Given the description of an element on the screen output the (x, y) to click on. 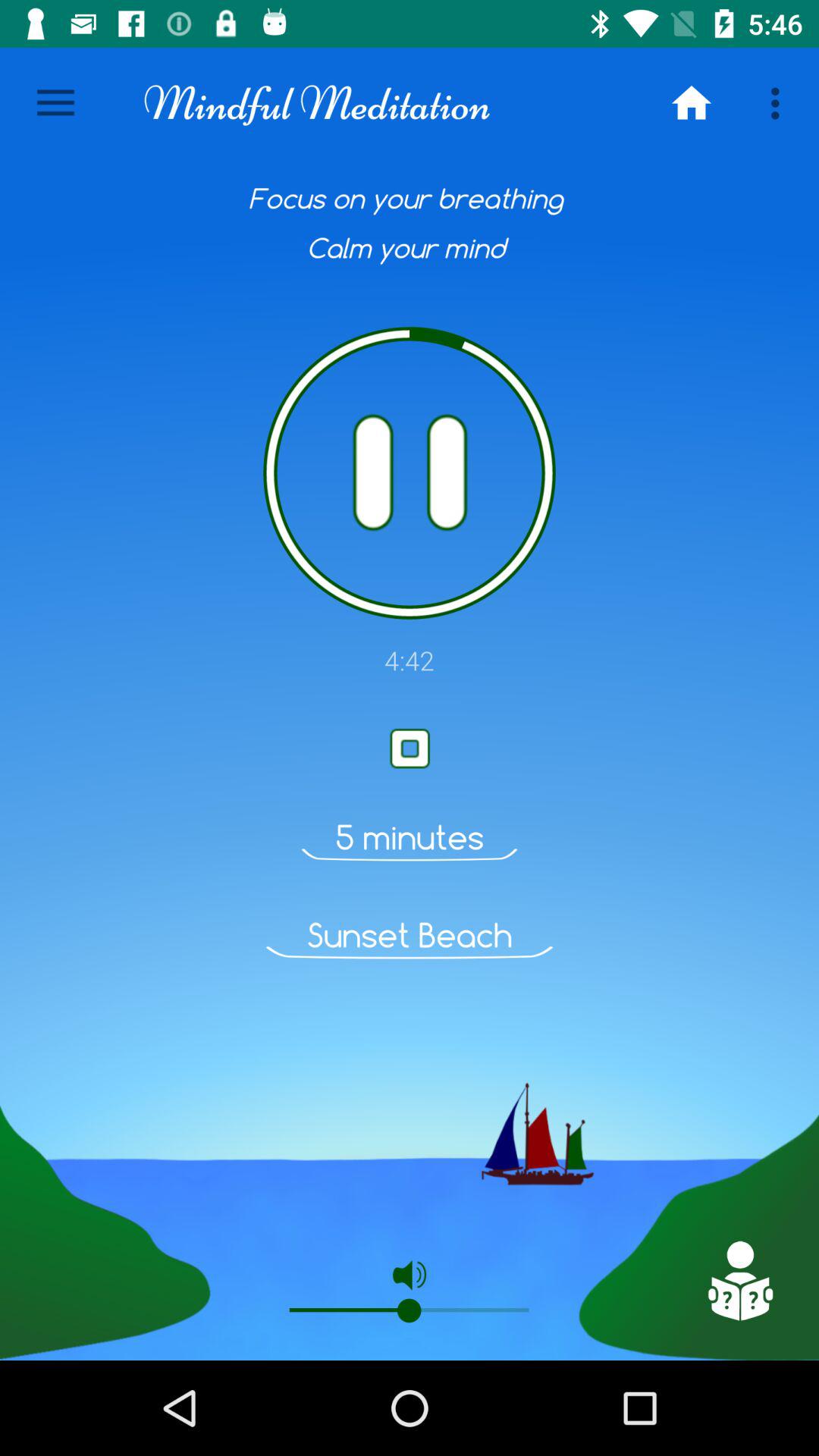
pause audio (409, 472)
